Given the description of an element on the screen output the (x, y) to click on. 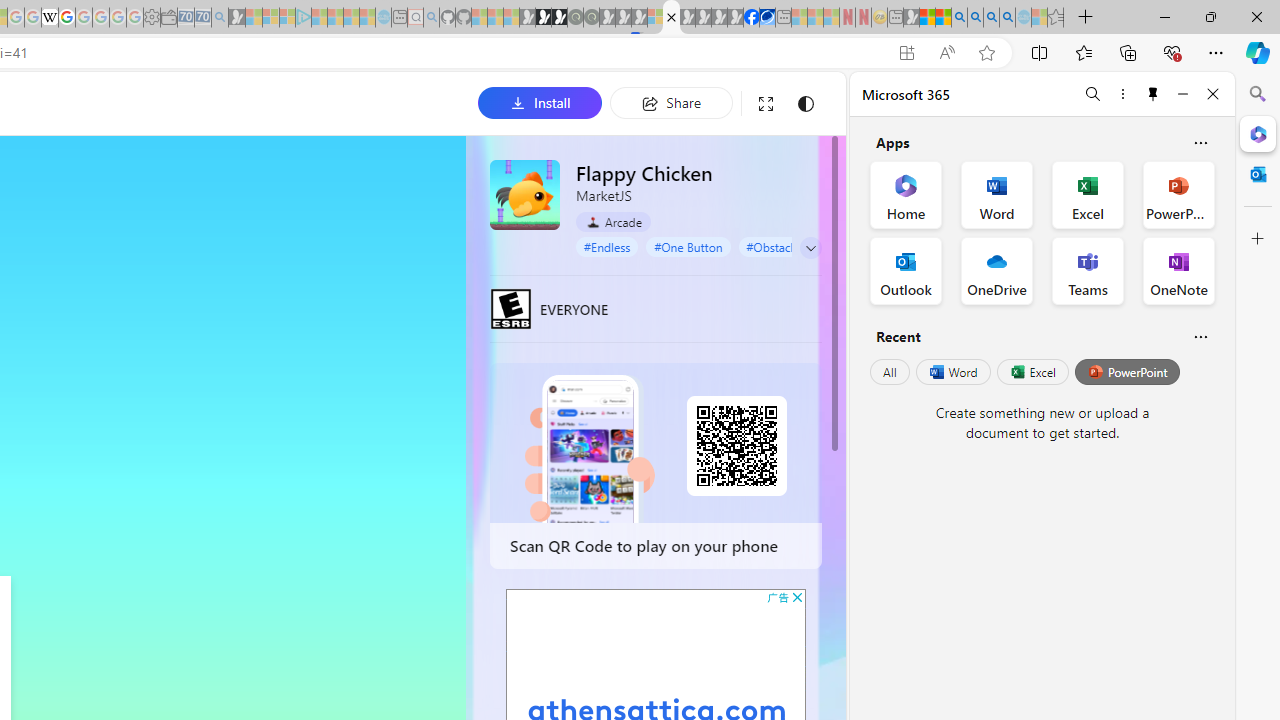
Wallet - Sleeping (168, 17)
New tab - Sleeping (895, 17)
Microsoft Start Gaming - Sleeping (236, 17)
Close Microsoft 365 pane (1258, 133)
Microsoft Start - Sleeping (351, 17)
Full screen (765, 103)
#Endless (607, 246)
Play Zoo Boom in your browser | Games from Microsoft Start (543, 17)
OneDrive Office App (996, 270)
EVERYONE (511, 308)
Close Customize pane (1258, 239)
